Given the description of an element on the screen output the (x, y) to click on. 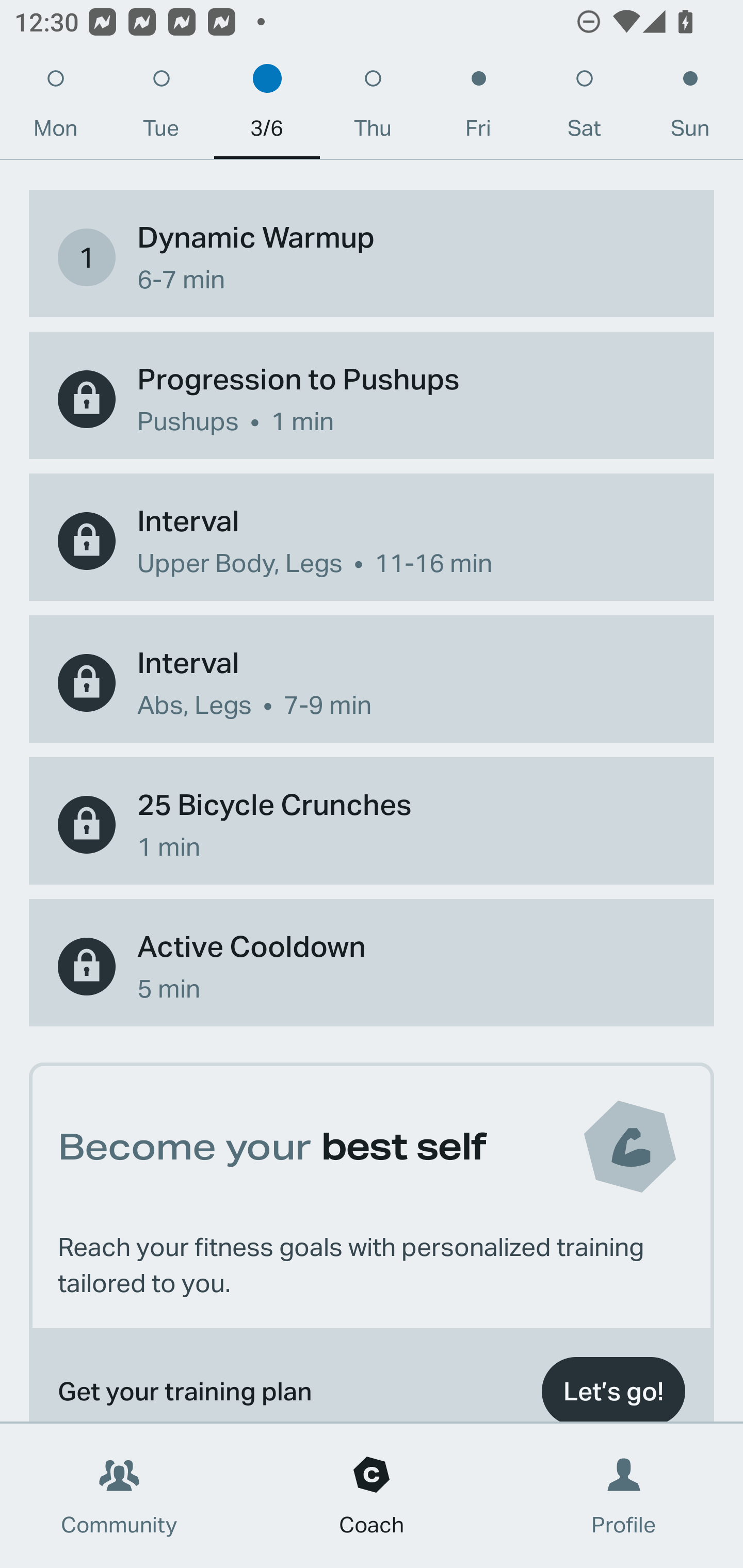
Mon (55, 108)
Tue (160, 108)
3/6 (266, 108)
Thu (372, 108)
Fri (478, 108)
Sat (584, 108)
Sun (690, 108)
1 Dynamic Warmup 6-7 min (371, 257)
Progression to Pushups Pushups  •  1 min (371, 398)
Interval Upper Body, Legs  •  11-16 min (371, 540)
Interval Abs, Legs  •  7-9 min (371, 682)
25 Bicycle Crunches 1 min (371, 824)
Active Cooldown 5 min (371, 966)
Let’s go! (613, 1385)
Community (119, 1495)
Profile (624, 1495)
